Given the description of an element on the screen output the (x, y) to click on. 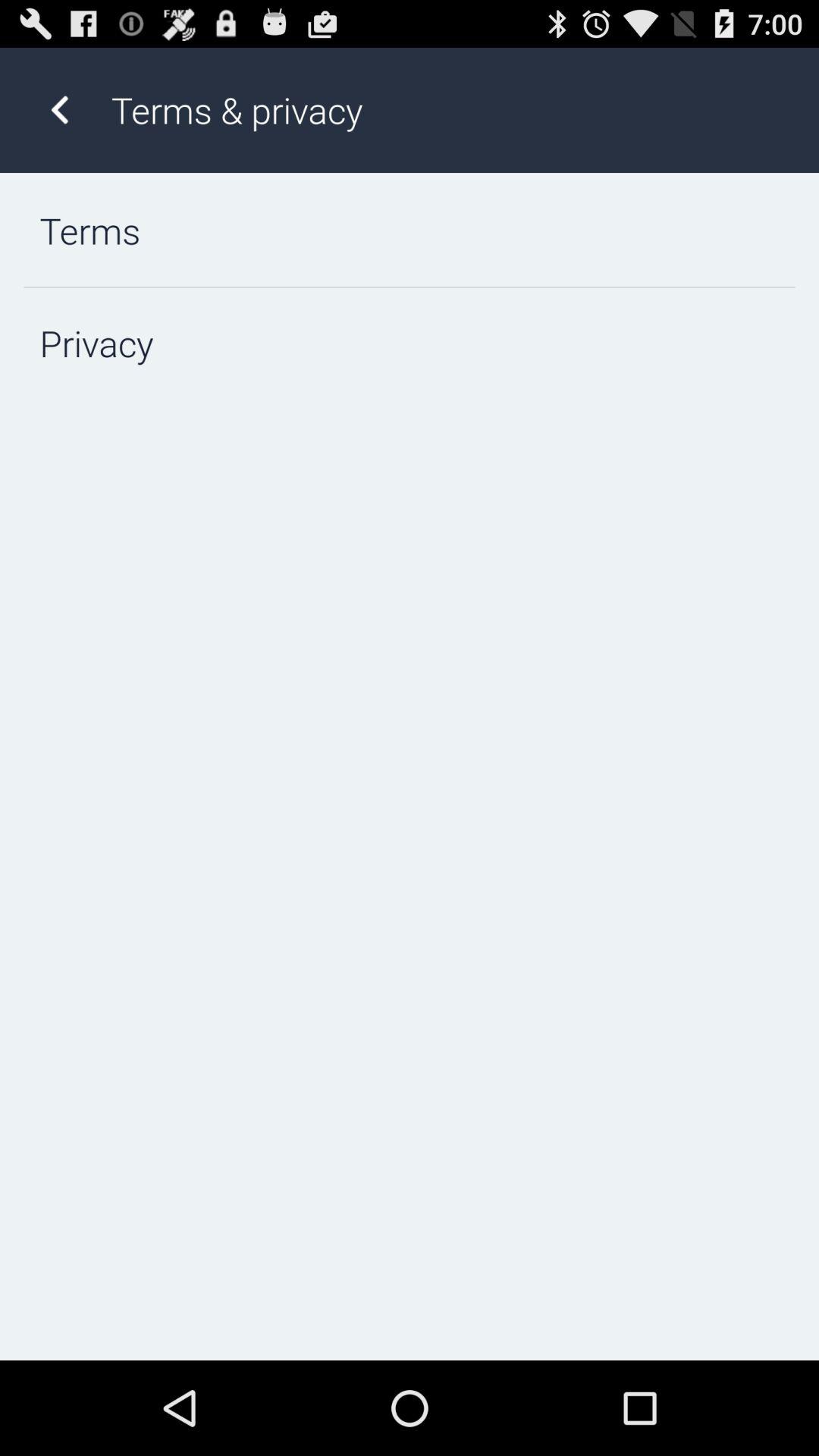
press terms & privacy icon (449, 109)
